Given the description of an element on the screen output the (x, y) to click on. 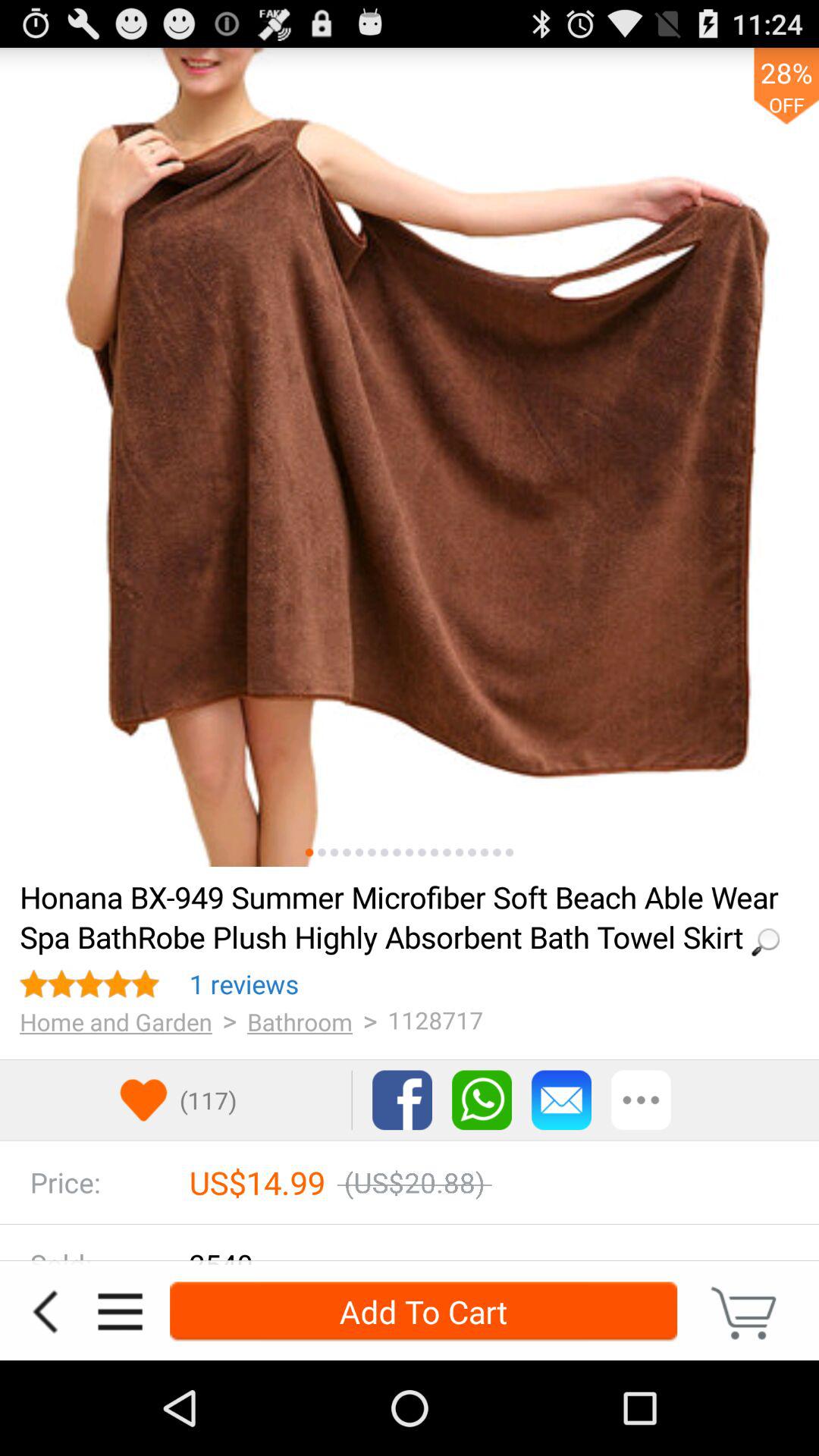
choose another photo (371, 852)
